Given the description of an element on the screen output the (x, y) to click on. 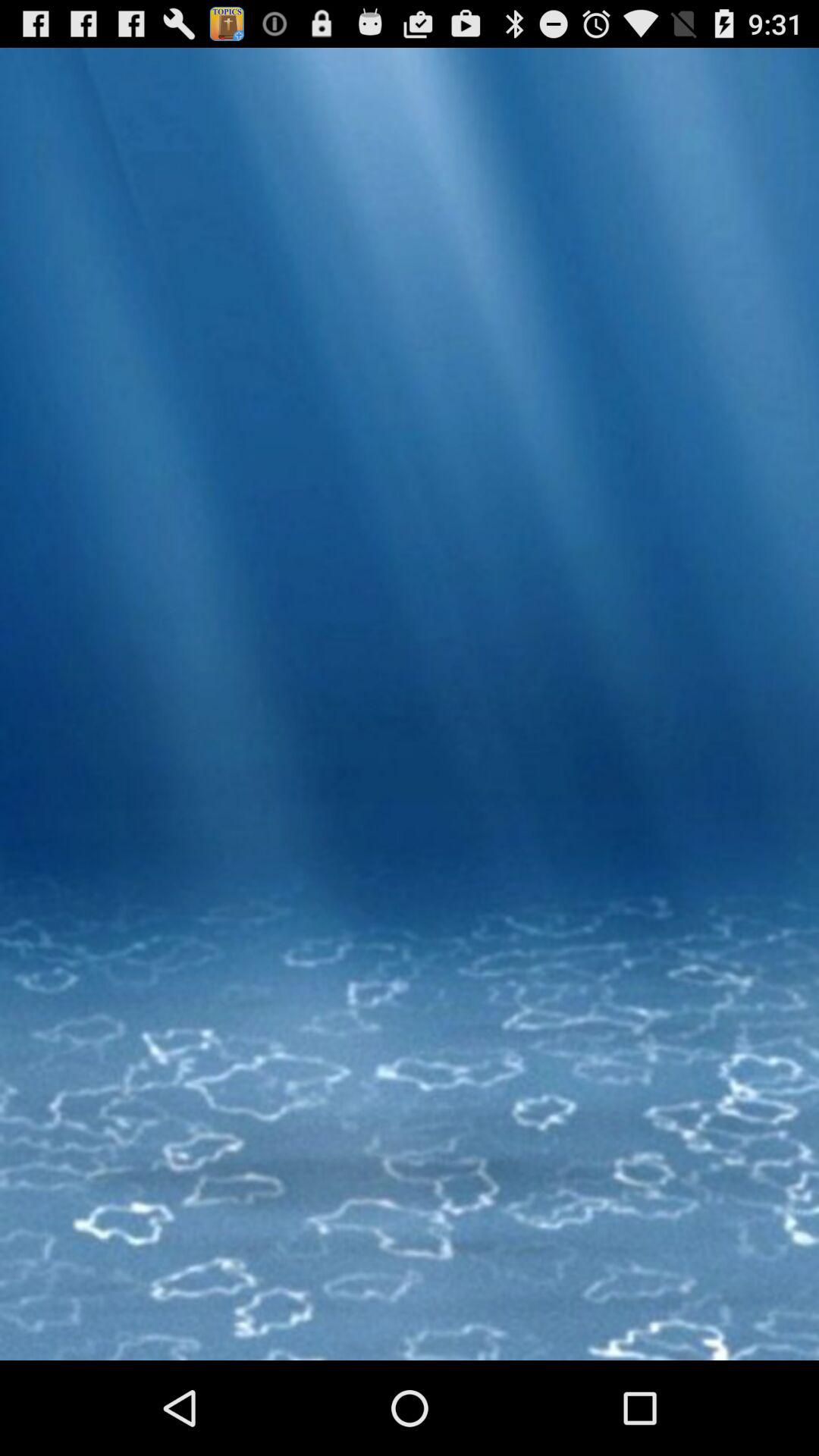
open the item at the center (409, 763)
